Given the description of an element on the screen output the (x, y) to click on. 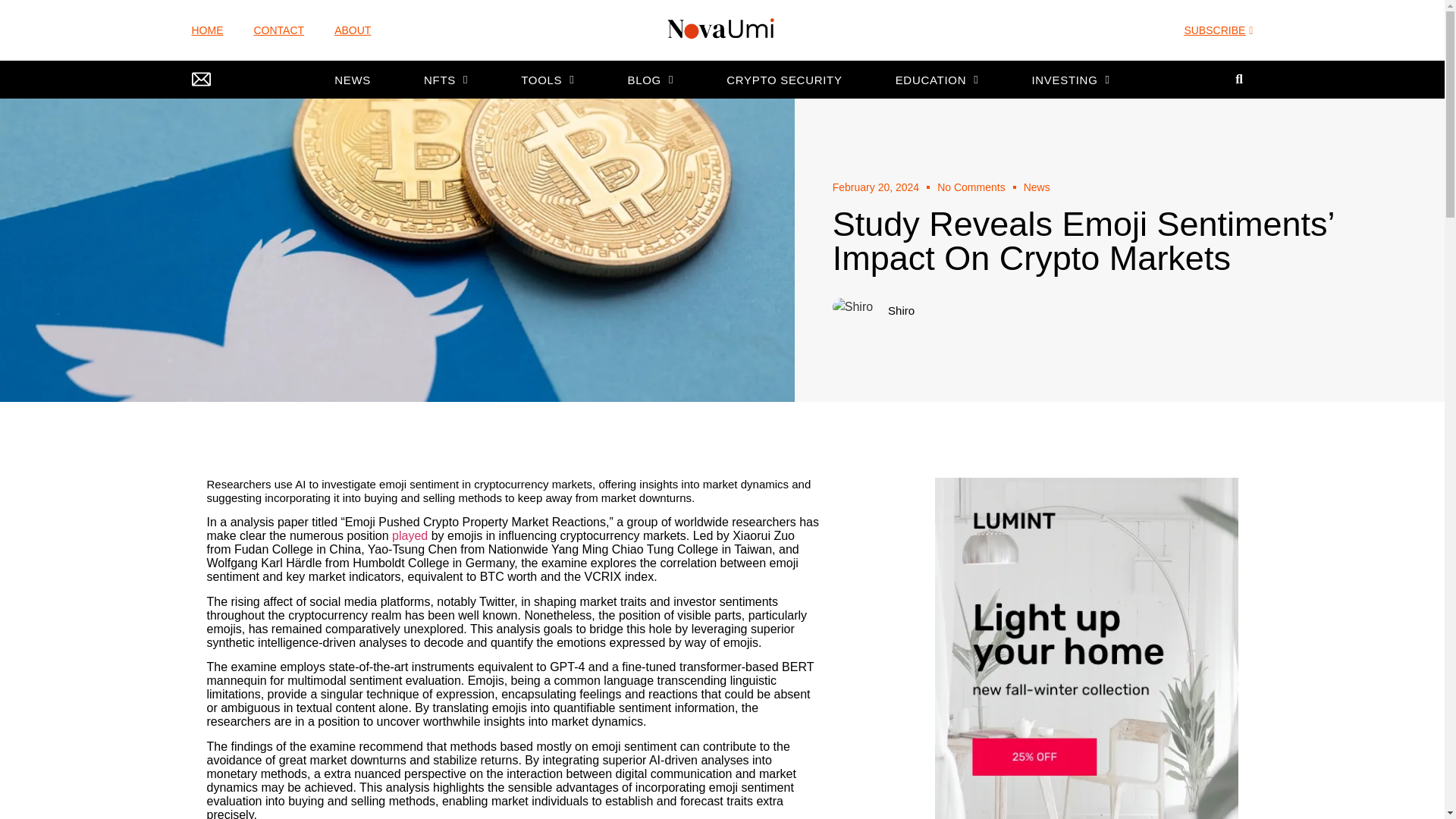
BLOG (651, 79)
ABOUT (352, 30)
CRYPTO SECURITY (783, 79)
HOME (206, 30)
NEWS (352, 79)
EDUCATION (936, 79)
CONTACT (278, 30)
NFTS (445, 79)
SUBSCRIBE (1217, 31)
TOOLS (546, 79)
